Given the description of an element on the screen output the (x, y) to click on. 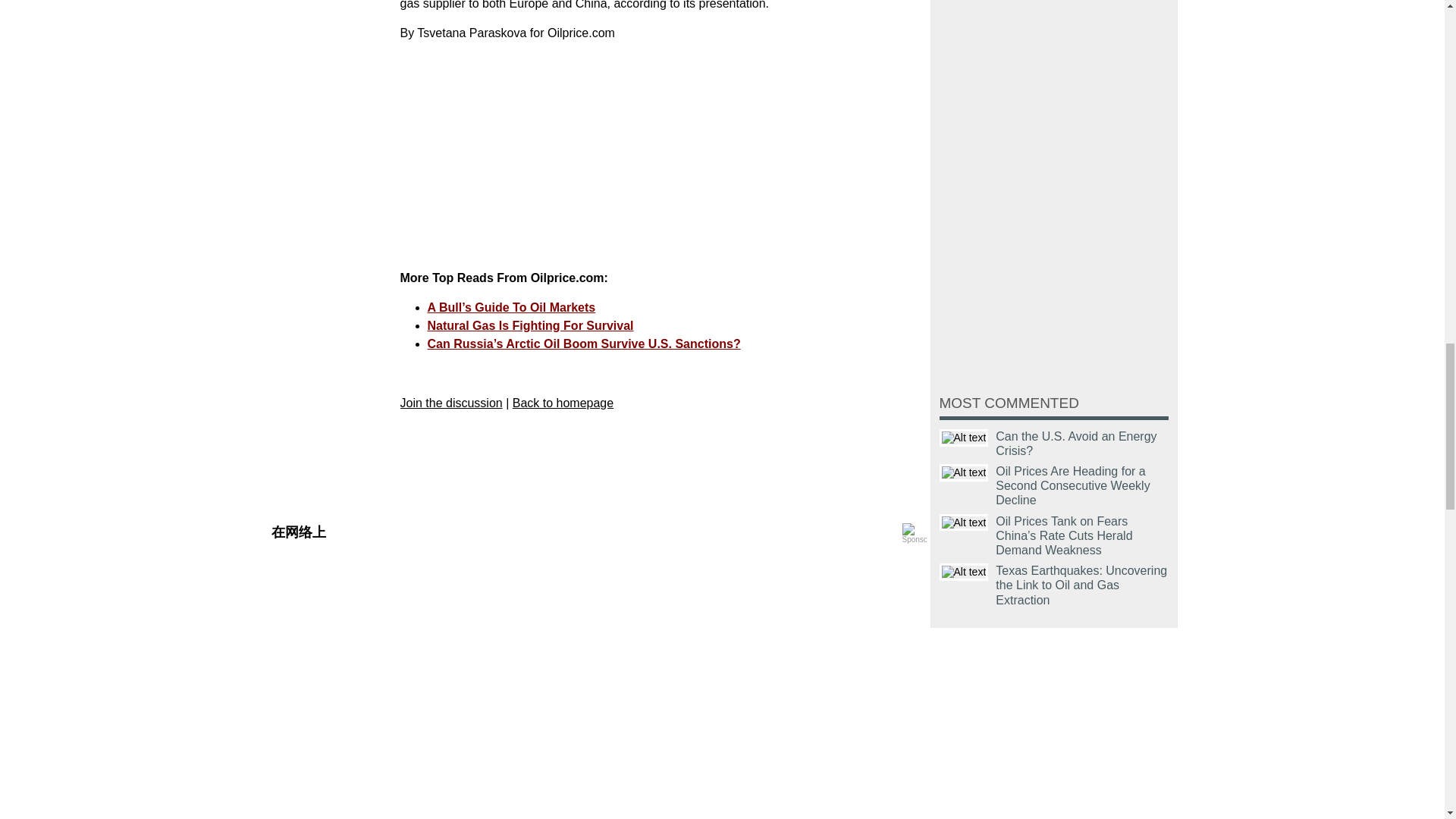
Title text (963, 522)
Title text (963, 571)
Title text (963, 472)
Title text (963, 437)
